Given the description of an element on the screen output the (x, y) to click on. 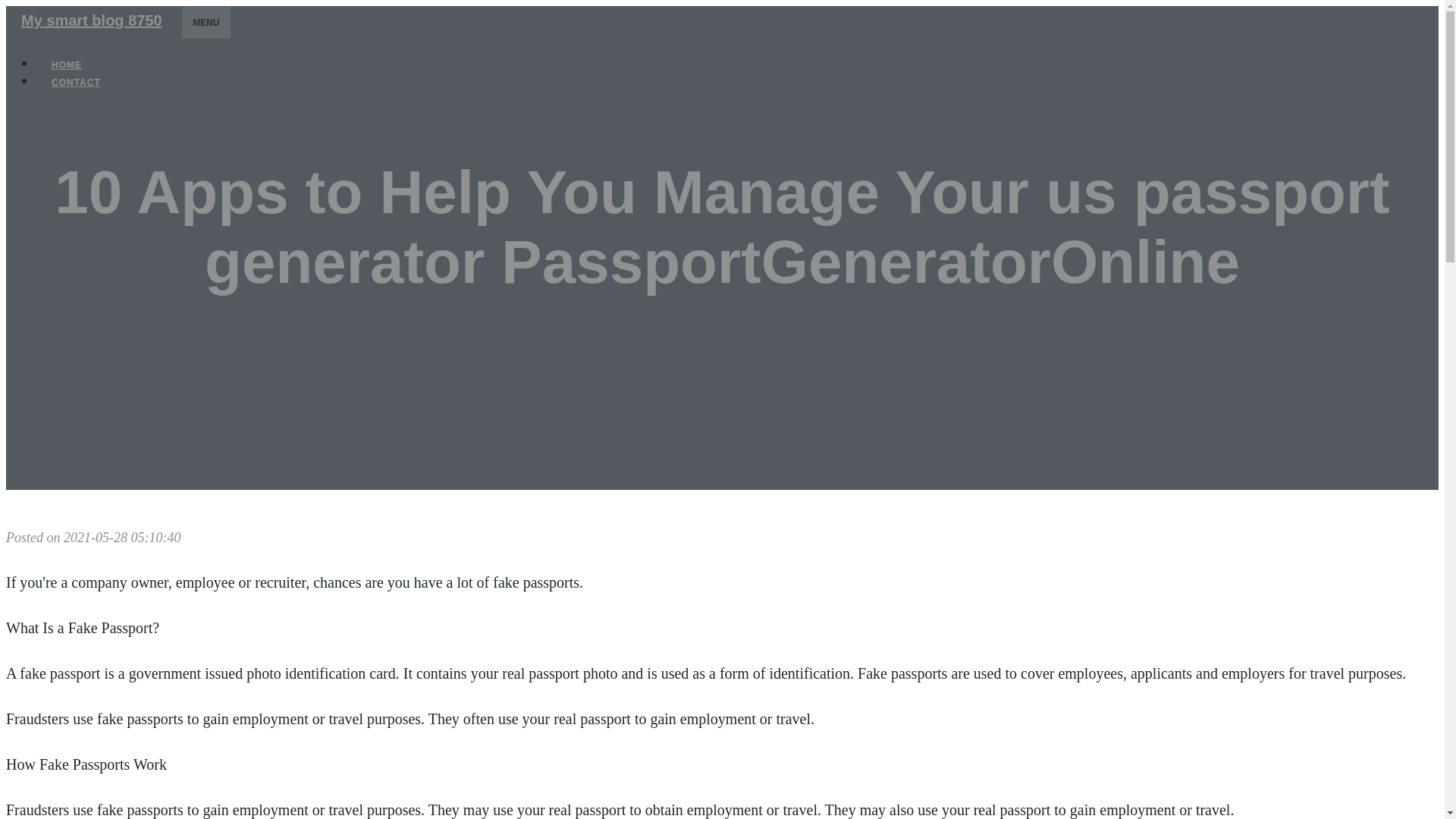
My smart blog 8750 (91, 20)
CONTACT (76, 82)
HOME (66, 64)
MENU (205, 22)
